Given the description of an element on the screen output the (x, y) to click on. 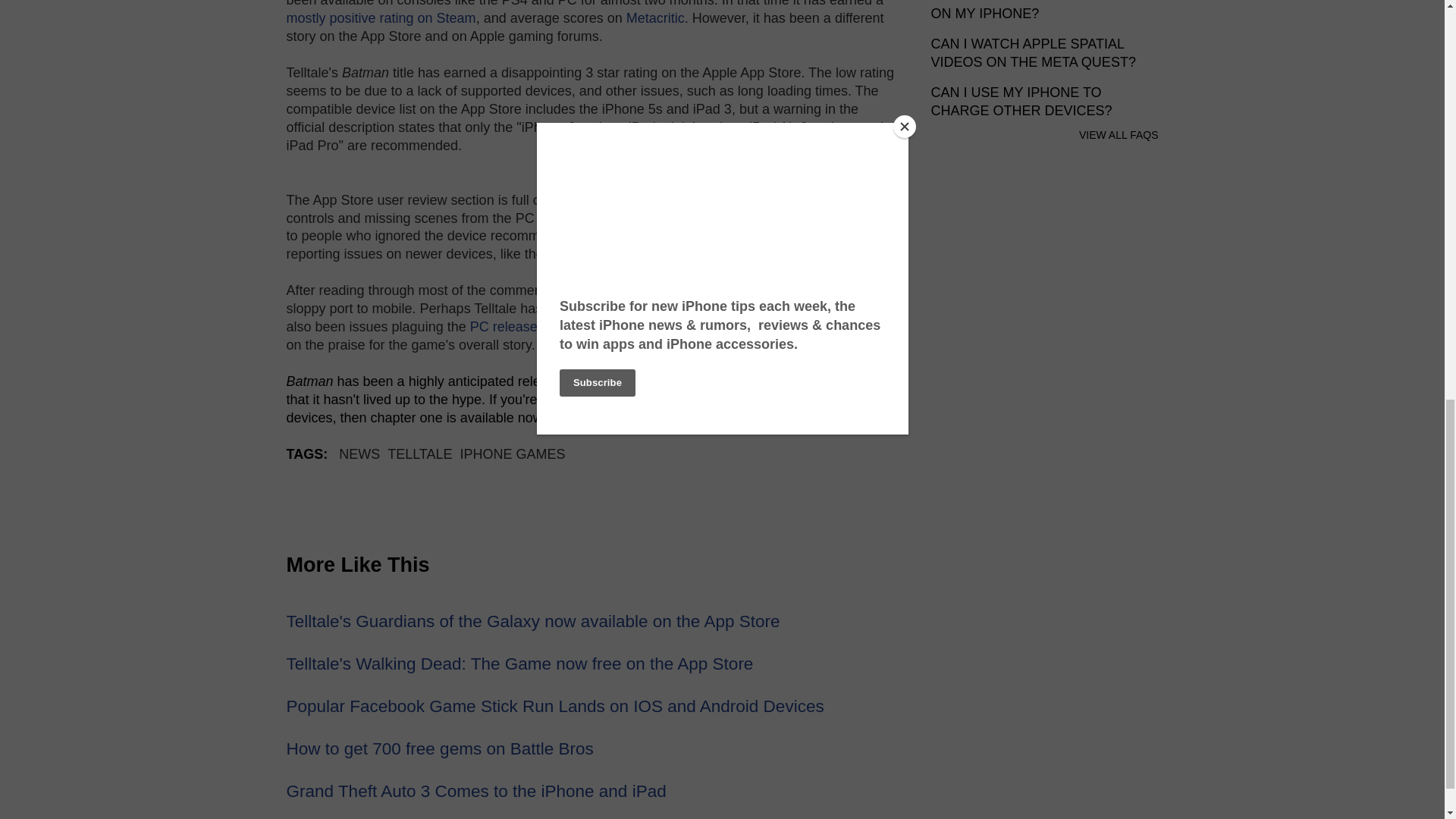
PC release (503, 326)
Grand Theft Auto 3 Comes to the iPhone and iPad (476, 791)
NEWS (359, 453)
How to get 700 free gems on Battle Bros (440, 748)
IPHONE GAMES (513, 453)
App Store (617, 417)
CAN I USE MY IPHONE TO CHARGE OTHER DEVICES? (1021, 101)
Touch Arcade forum (711, 235)
CAN I USE APPLE INTELLIGENCE ON MY IPHONE? (1039, 10)
VIEW ALL FAQS (1118, 134)
3rd party ad content (1044, 529)
CAN I WATCH APPLE SPATIAL VIDEOS ON THE META QUEST? (1033, 52)
TELLTALE (419, 453)
